Given the description of an element on the screen output the (x, y) to click on. 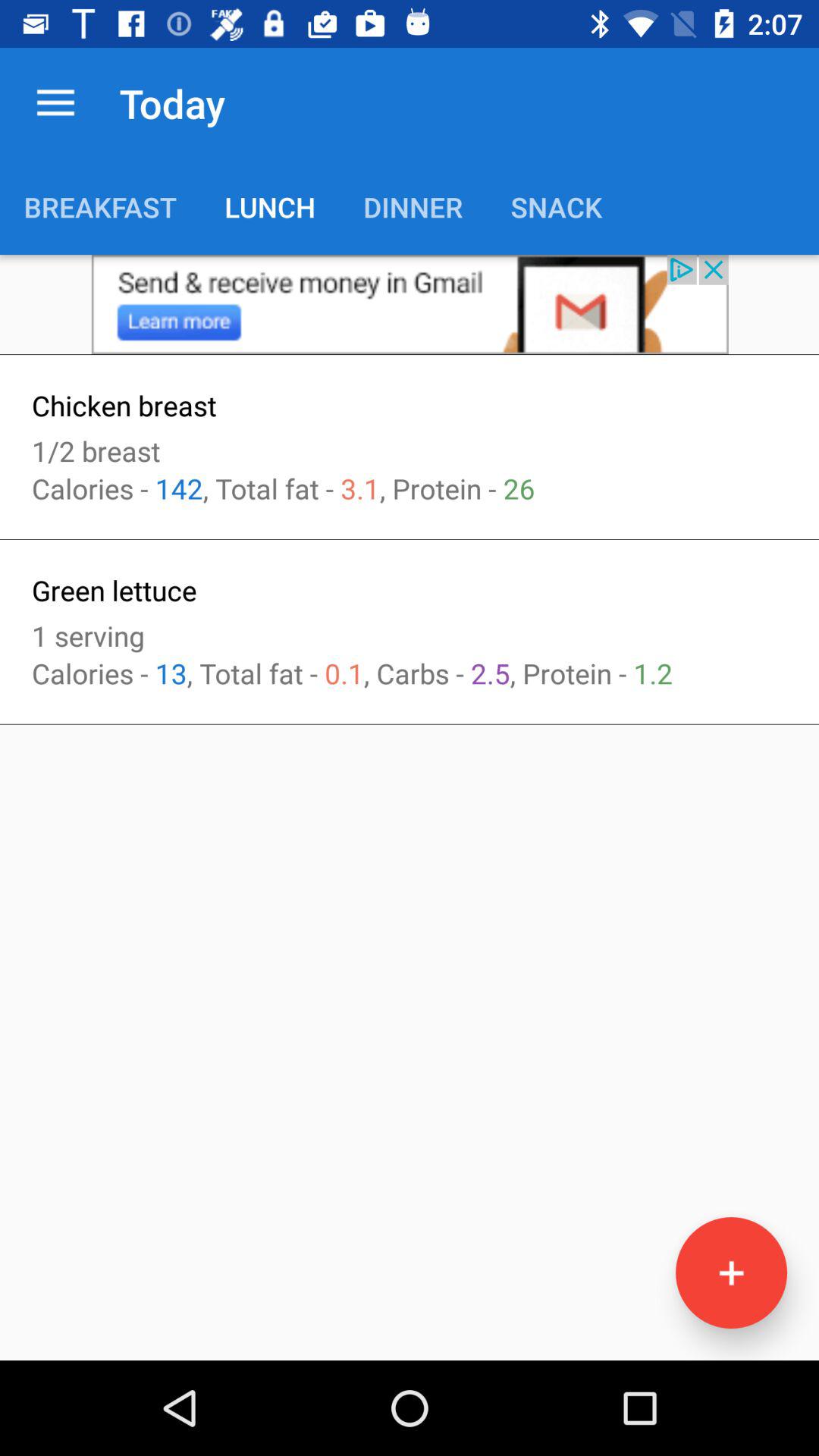
send money advertisement (409, 304)
